Given the description of an element on the screen output the (x, y) to click on. 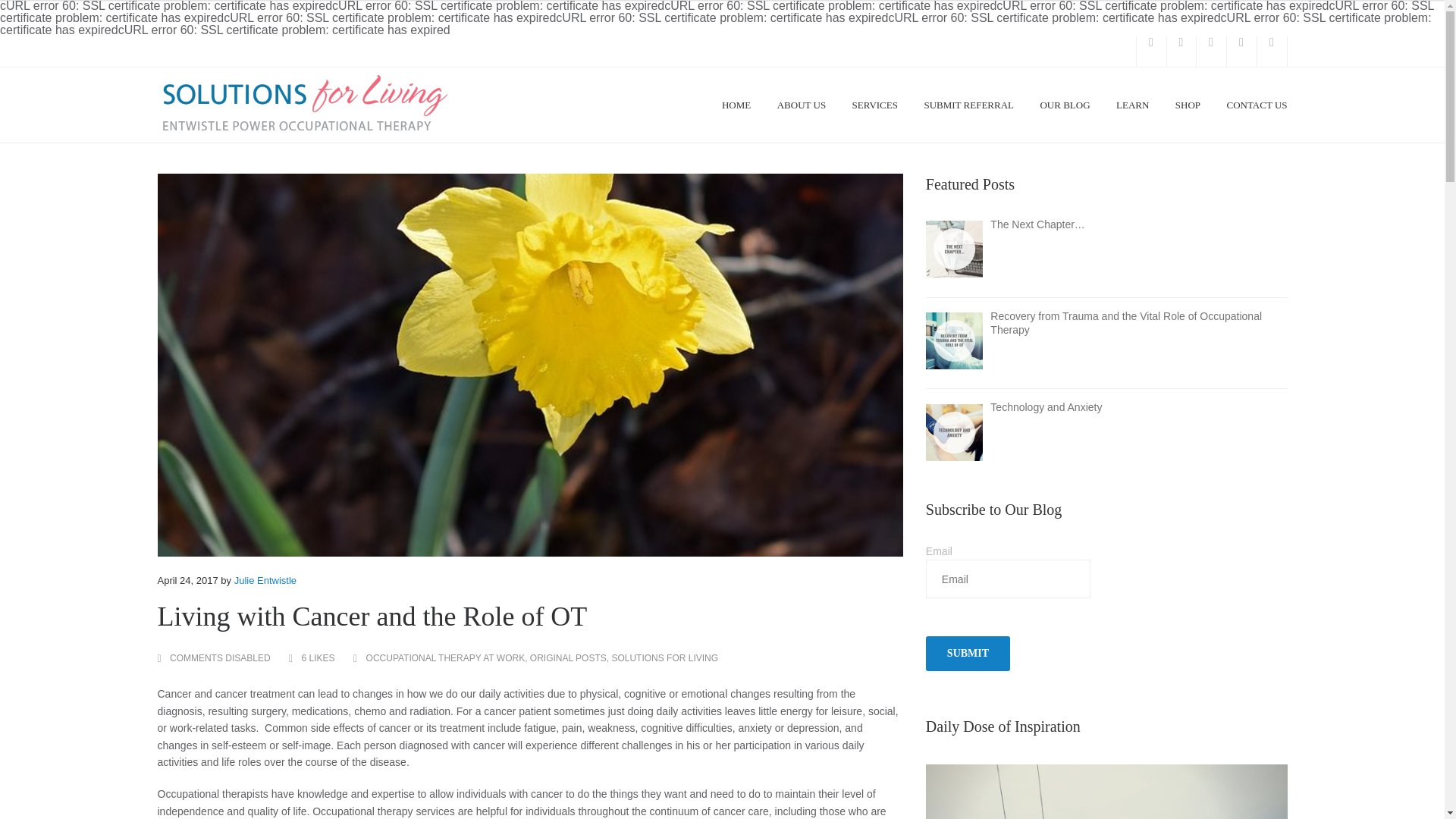
Submit (968, 653)
